Given the description of an element on the screen output the (x, y) to click on. 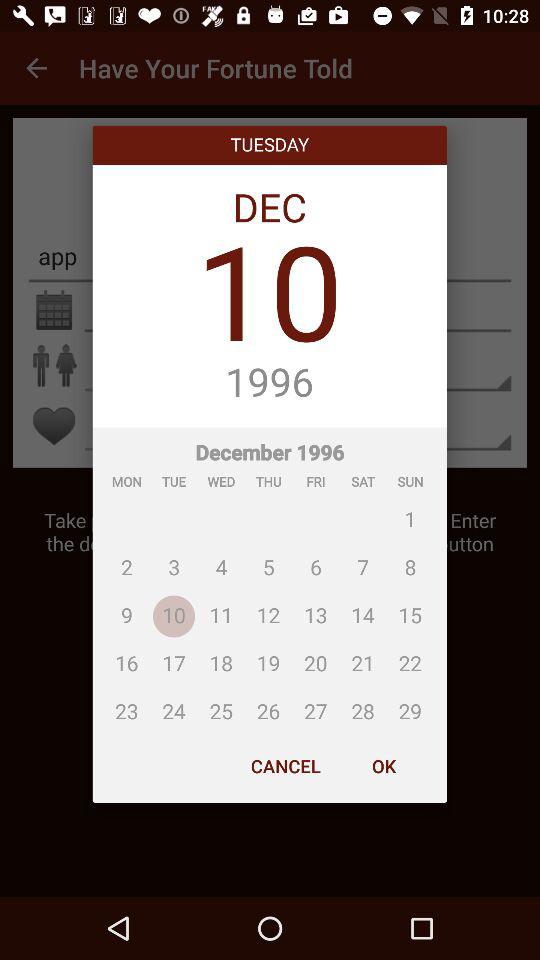
scroll until the cancel item (285, 765)
